Given the description of an element on the screen output the (x, y) to click on. 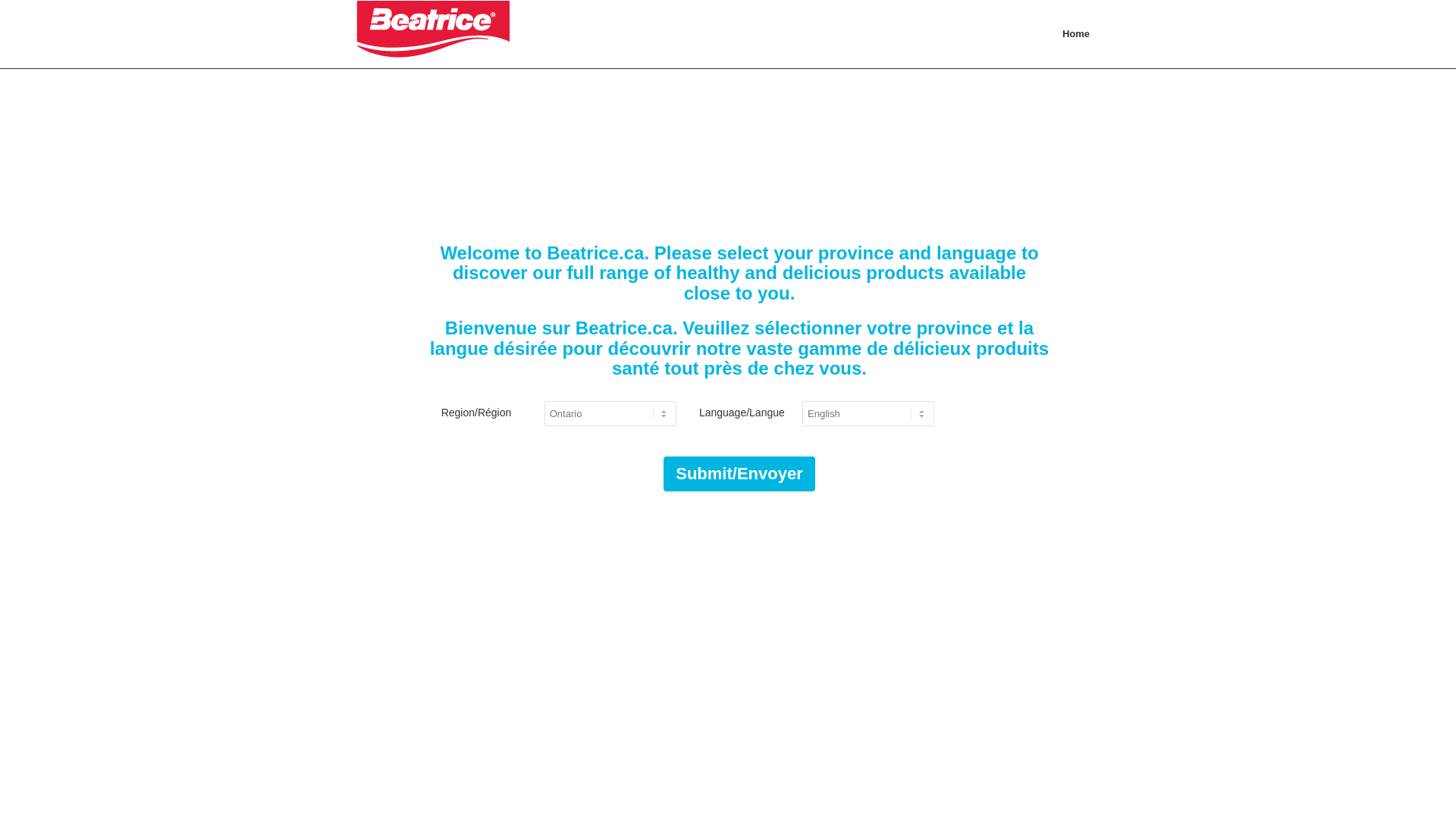
Home Element type: text (1075, 33)
Skip to main content Element type: text (0, 0)
